Given the description of an element on the screen output the (x, y) to click on. 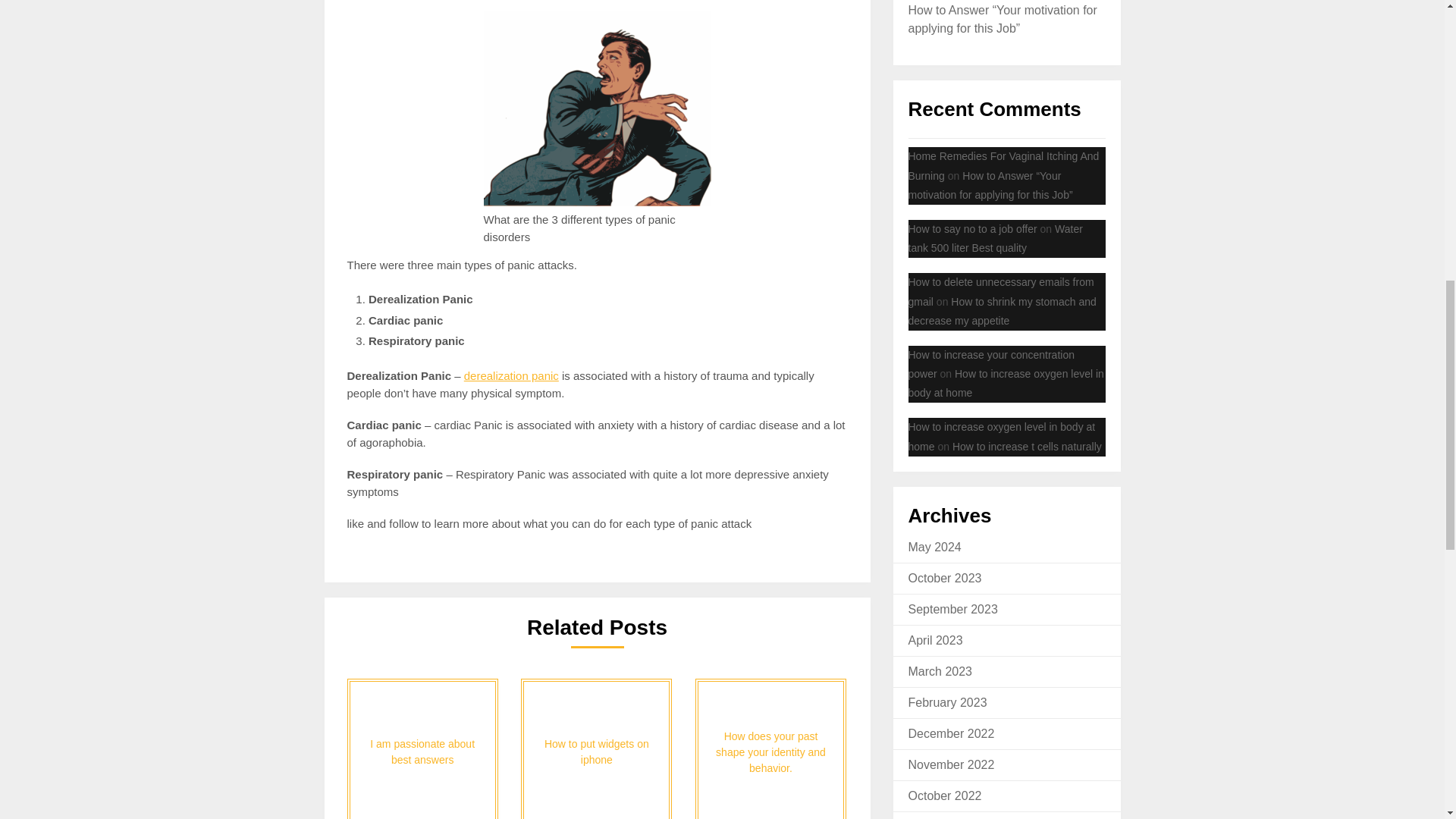
How to increase oxygen level in body at home (1002, 436)
How to shrink my stomach and decrease my appetite (1002, 310)
April 2023 (935, 640)
How does your past shape your identity and behavior. (770, 748)
March 2023 (940, 671)
derealization panic (511, 375)
How to put widgets on iphone (596, 748)
May 2024 (934, 546)
I am passionate about best answers (422, 748)
How to increase your concentration power (991, 364)
derealization panic (511, 375)
Home Remedies For Vaginal Itching And Burning (1003, 164)
Water tank 500 liter Best quality (995, 237)
October 2023 (944, 577)
How to increase t cells naturally (1027, 446)
